Given the description of an element on the screen output the (x, y) to click on. 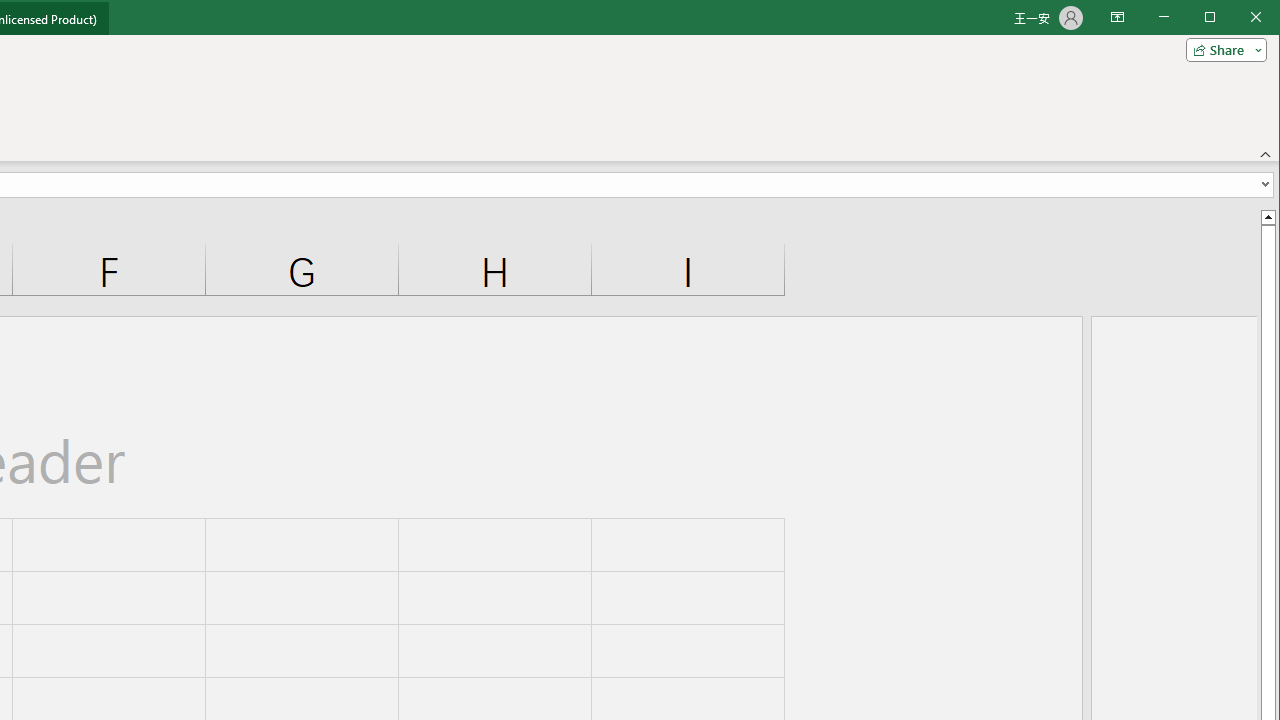
Maximize (1238, 18)
